Given the description of an element on the screen output the (x, y) to click on. 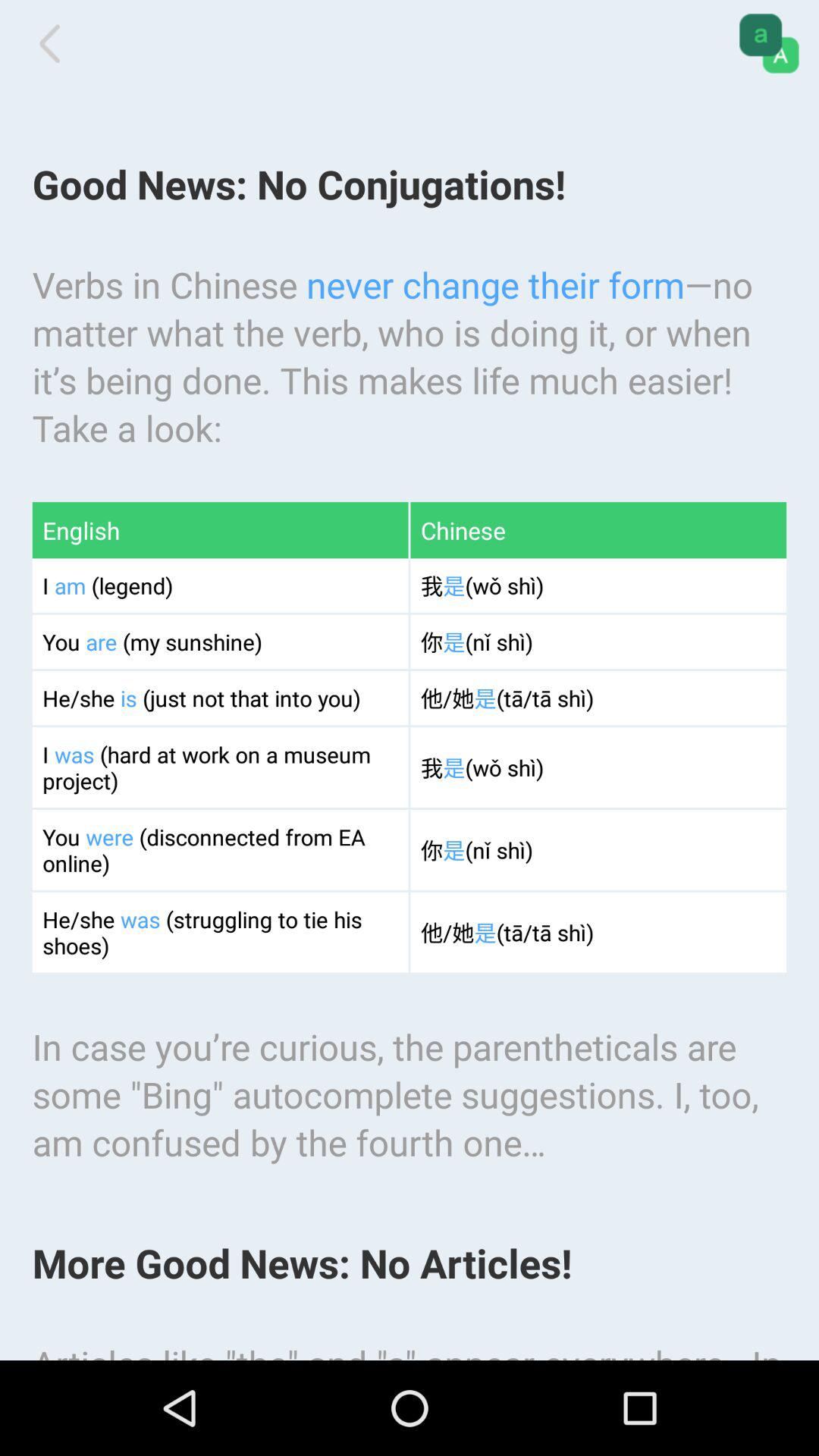
press app above verbs in chinese app (769, 43)
